Given the description of an element on the screen output the (x, y) to click on. 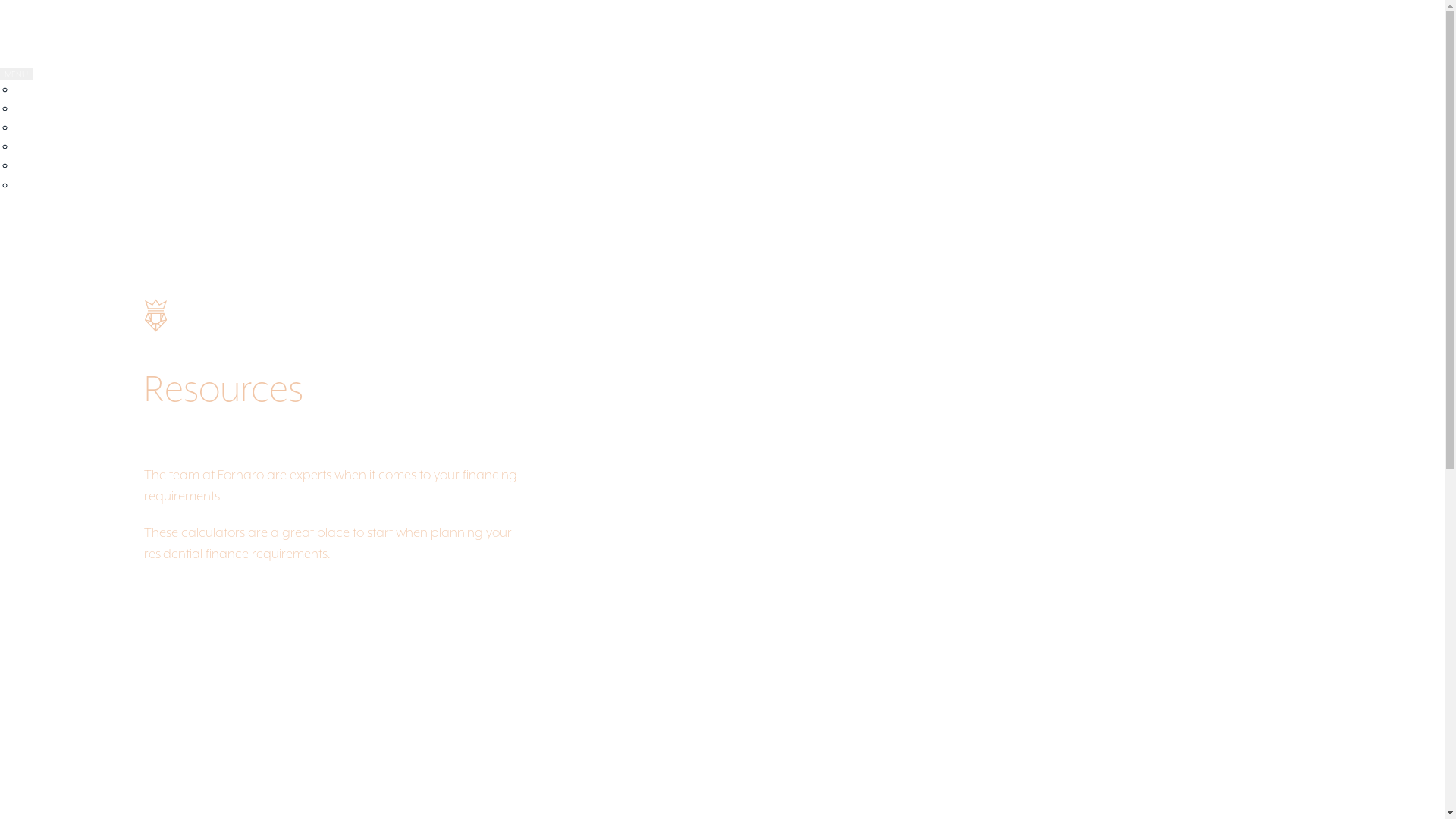
TEAM Element type: text (42, 108)
CONTACT Element type: text (54, 184)
INSIGHTS Element type: text (53, 165)
RESOURCES Element type: text (61, 146)
ABOUT Element type: text (47, 89)
MENU Element type: text (16, 74)
SERVICES Element type: text (53, 127)
